Given the description of an element on the screen output the (x, y) to click on. 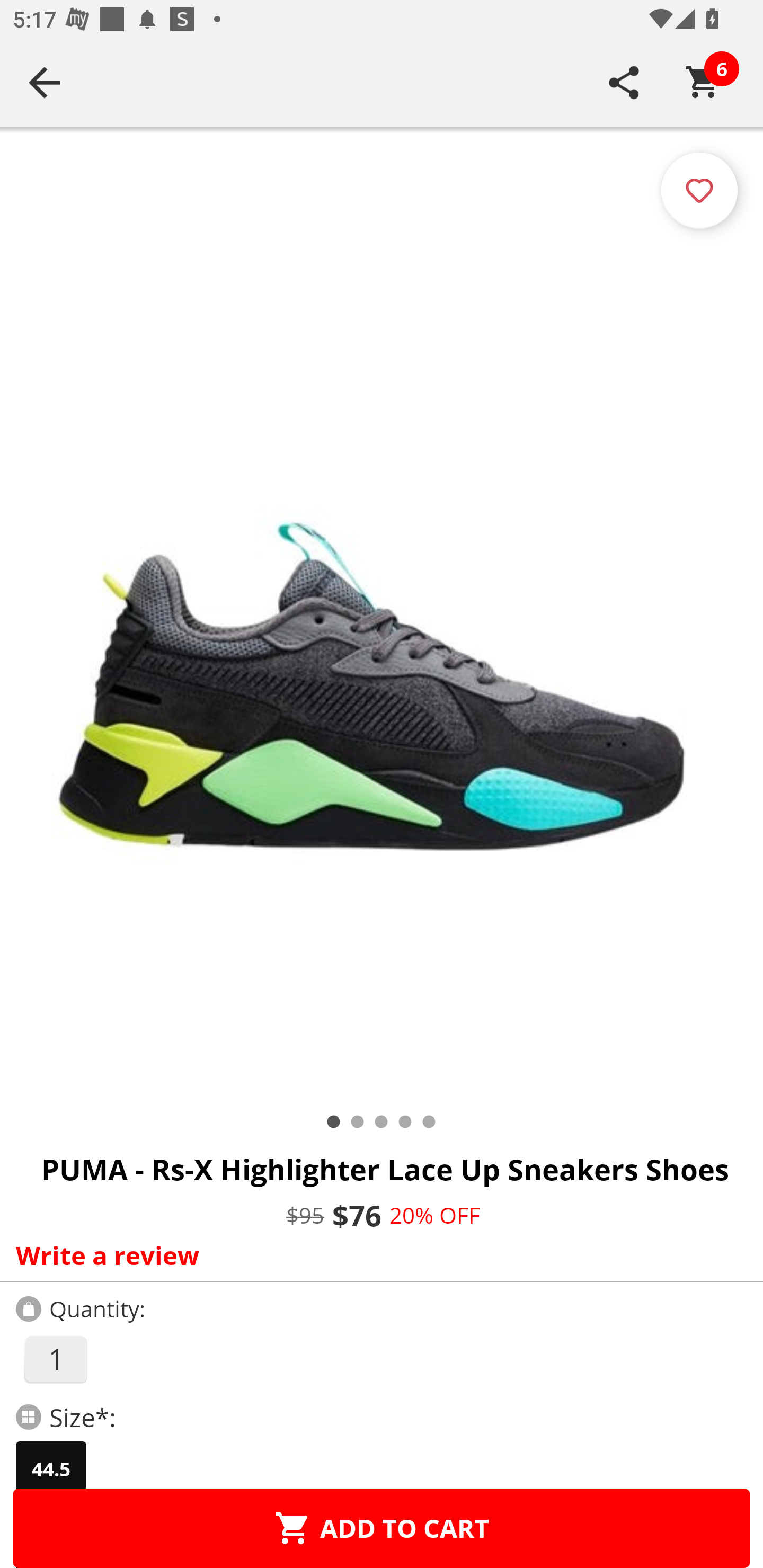
Navigate up (44, 82)
SHARE (623, 82)
Cart (703, 81)
Write a review (377, 1255)
1 (55, 1358)
44.5 (51, 1468)
ADD TO CART (381, 1528)
